Given the description of an element on the screen output the (x, y) to click on. 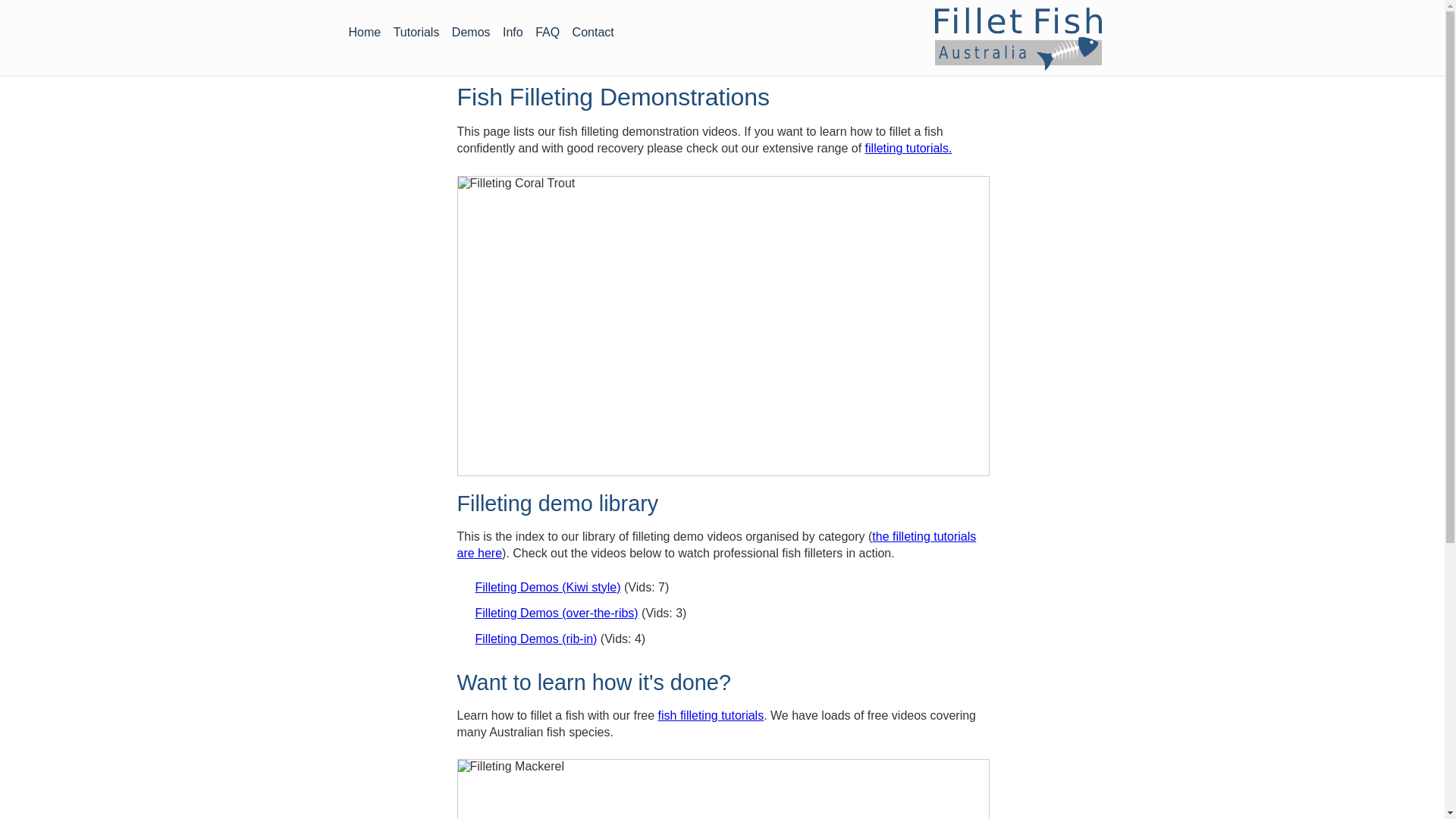
the filleting tutorials are here Element type: text (715, 544)
FAQ Element type: text (547, 32)
Filleting Demos (rib-in) Element type: text (535, 638)
Filleting Demos (over-the-ribs) Element type: text (555, 612)
Tutorials Element type: text (416, 32)
Contact Element type: text (593, 32)
Filleting Demos (Kiwi style) Element type: text (547, 586)
fish filleting tutorials Element type: text (711, 715)
filleting tutorials. Element type: text (908, 147)
Info Element type: text (512, 32)
Home Element type: text (364, 32)
Demos Element type: text (471, 32)
